Given the description of an element on the screen output the (x, y) to click on. 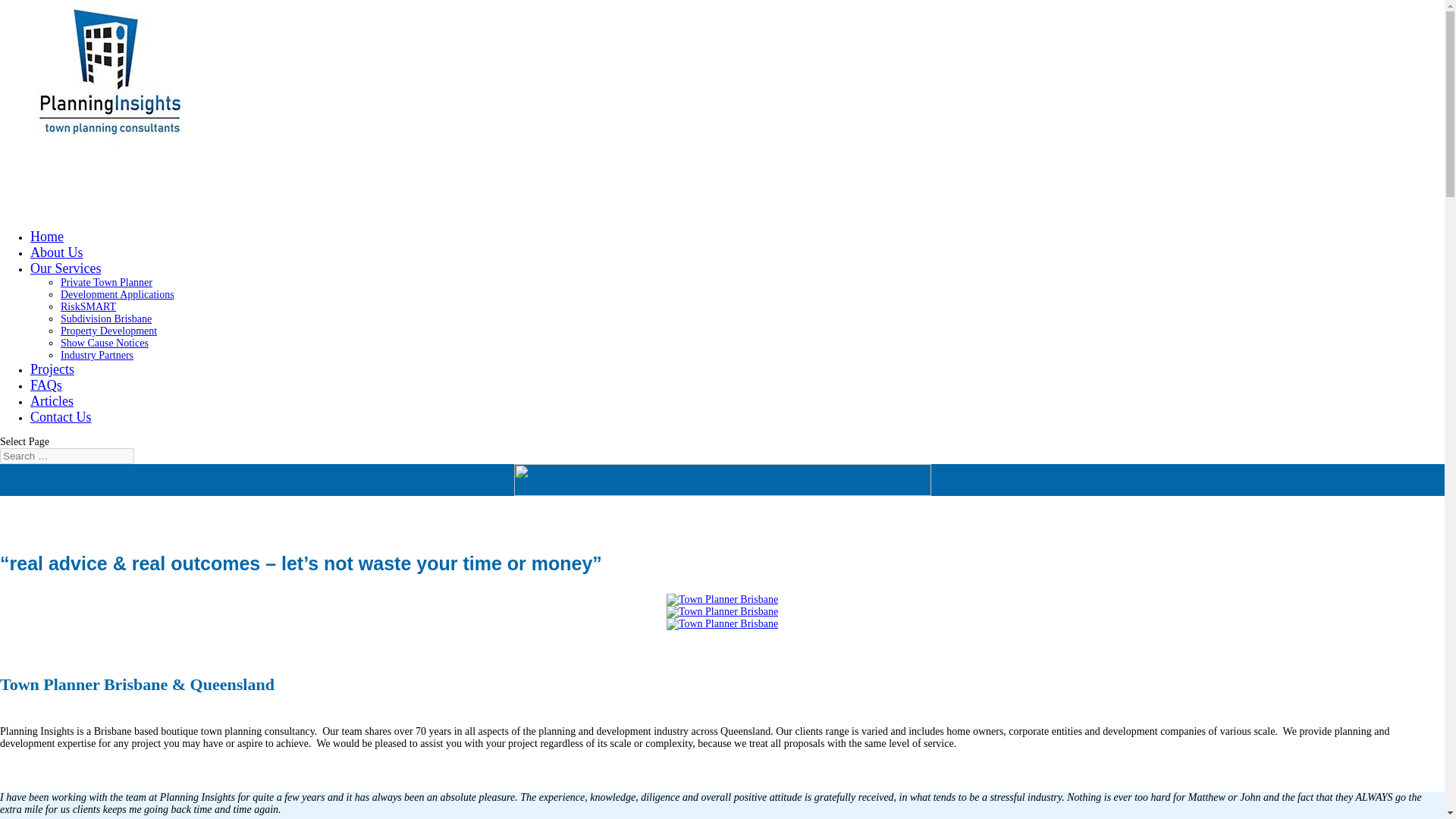
Show Cause Notices (104, 342)
Property Development (109, 330)
RiskSmart (721, 612)
Town Planning Consultants Brisbane (721, 623)
Subdivision Brisbane (106, 318)
Development Applications (117, 294)
Private Town Planner (106, 282)
Industry Partners (97, 355)
Search for: (66, 455)
RiskSMART (88, 306)
